Given the description of an element on the screen output the (x, y) to click on. 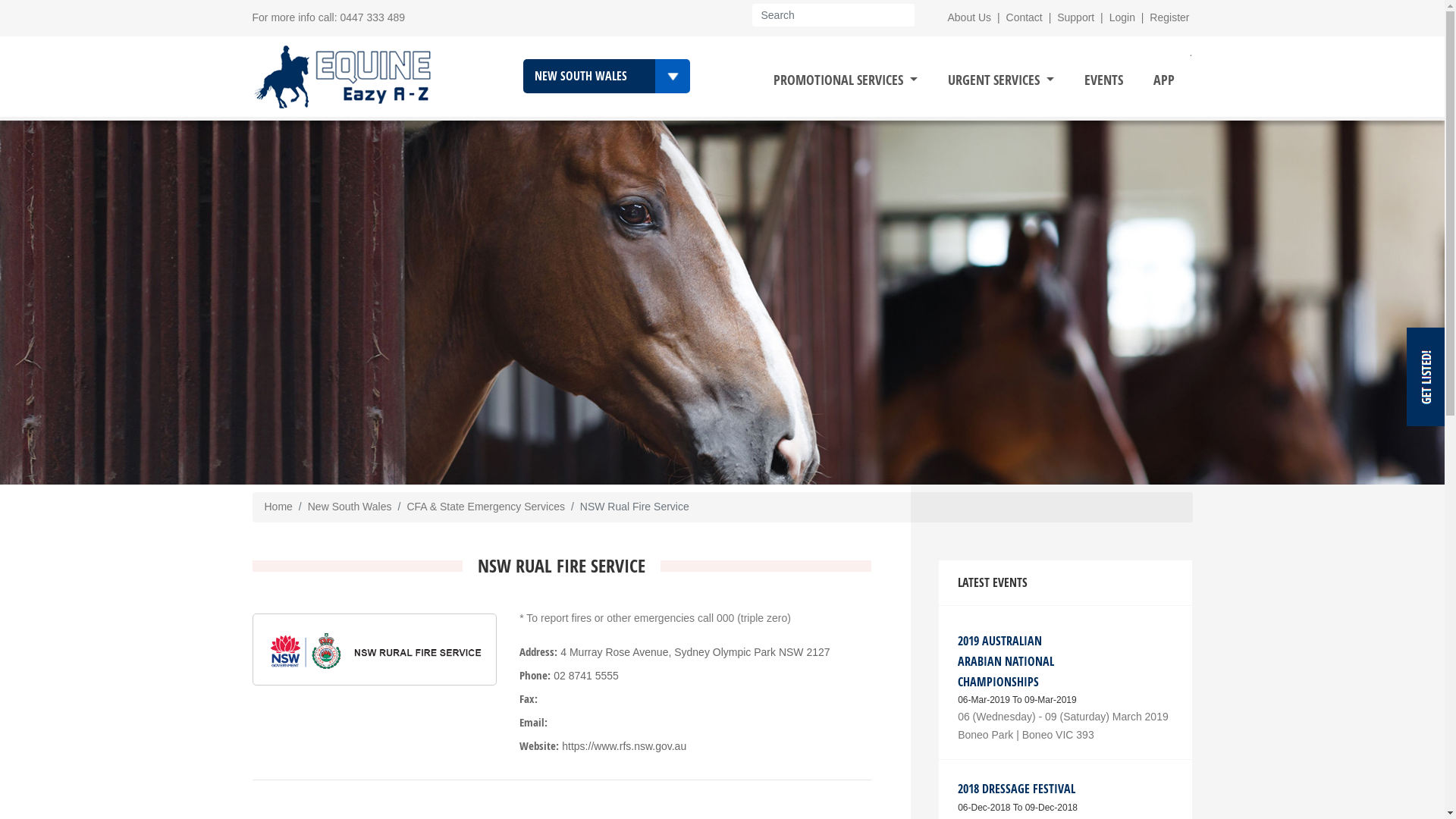
https://www.rfs.nsw.gov.au Element type: text (623, 746)
PROMOTIONAL SERVICES Element type: text (845, 79)
APP Element type: text (1163, 79)
2019 AUSTRALIAN ARABIAN NATIONAL CHAMPIONSHIPS Element type: text (1005, 661)
Home Element type: text (277, 506)
Support Element type: text (1075, 17)
CFA & State Emergency Services Element type: text (485, 506)
About Us Element type: text (969, 17)
EVENTS Element type: text (1103, 79)
URGENT SERVICES Element type: text (1000, 79)
New South Wales Element type: text (349, 506)
Register Element type: text (1169, 17)
Contact Element type: text (1024, 17)
2018 DRESSAGE FESTIVAL Element type: text (1016, 788)
0447 333 489 Element type: text (371, 17)
02 8741 5555 Element type: text (585, 675)
Login Element type: text (1122, 17)
